Given the description of an element on the screen output the (x, y) to click on. 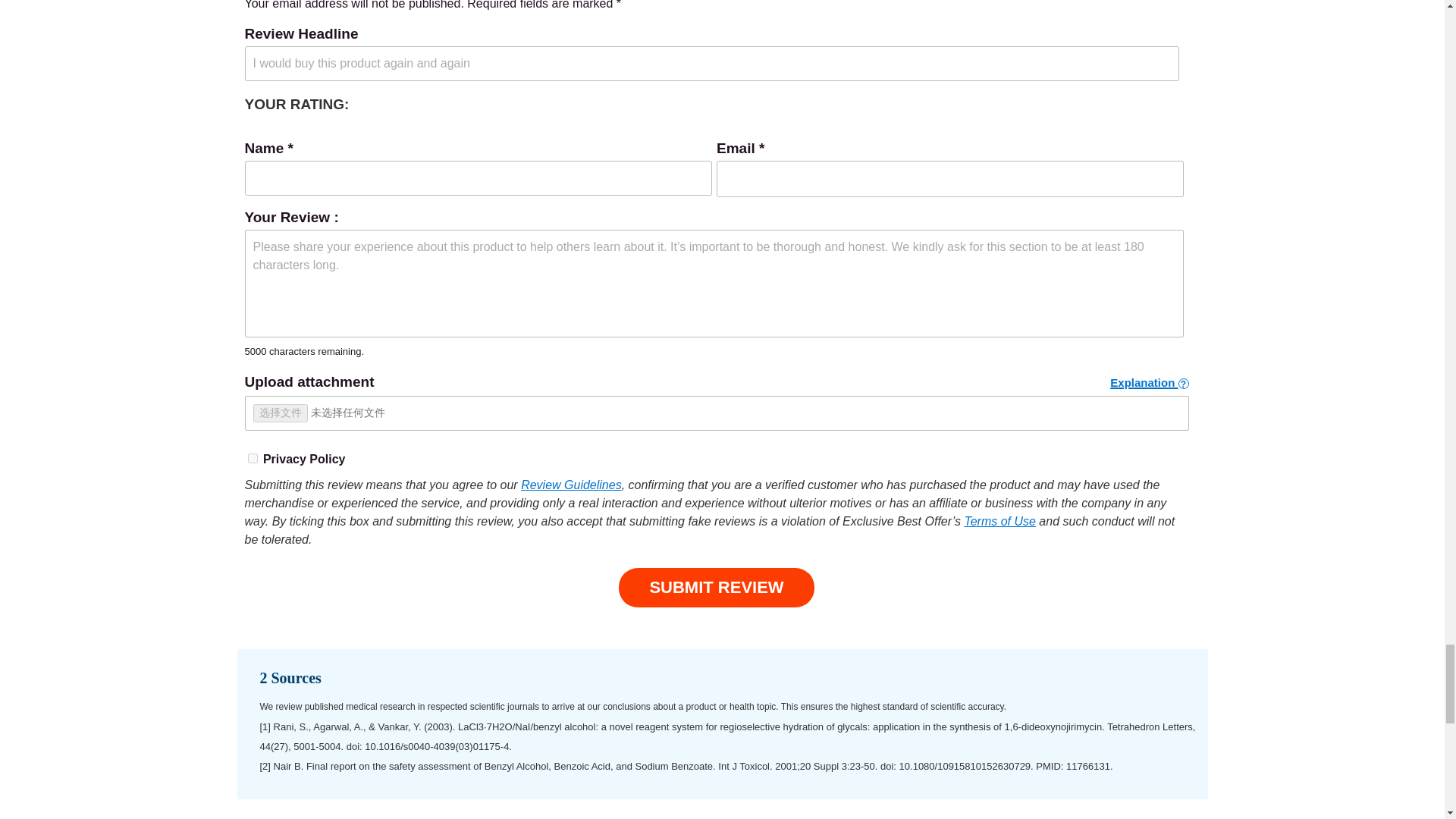
Yes (252, 458)
SUBMIT REVIEW (715, 587)
